Given the description of an element on the screen output the (x, y) to click on. 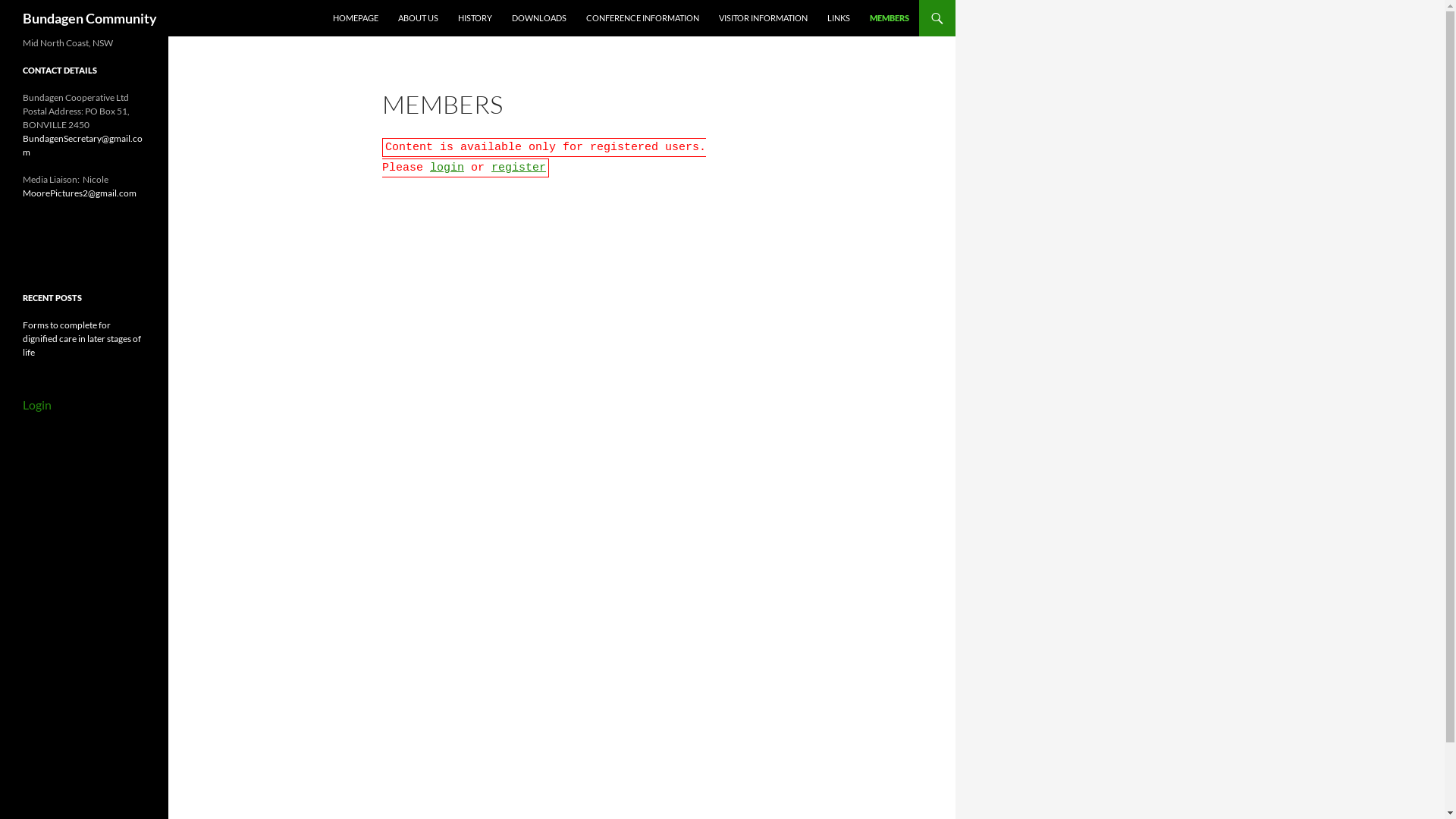
LINKS Element type: text (838, 18)
login Element type: text (446, 167)
CONFERENCE INFORMATION Element type: text (642, 18)
BundagenSecretary@gmail.com Element type: text (82, 144)
MoorePictures2@gmail.com Element type: text (79, 192)
HISTORY Element type: text (474, 18)
DOWNLOADS Element type: text (538, 18)
HOMEPAGE Element type: text (355, 18)
Login Element type: text (36, 404)
Forms to complete for dignified care in later stages of life Element type: text (81, 338)
VISITOR INFORMATION Element type: text (762, 18)
register Element type: text (518, 167)
Bundagen Community Element type: text (89, 18)
MEMBERS Element type: text (889, 18)
ABOUT US Element type: text (418, 18)
